Given the description of an element on the screen output the (x, y) to click on. 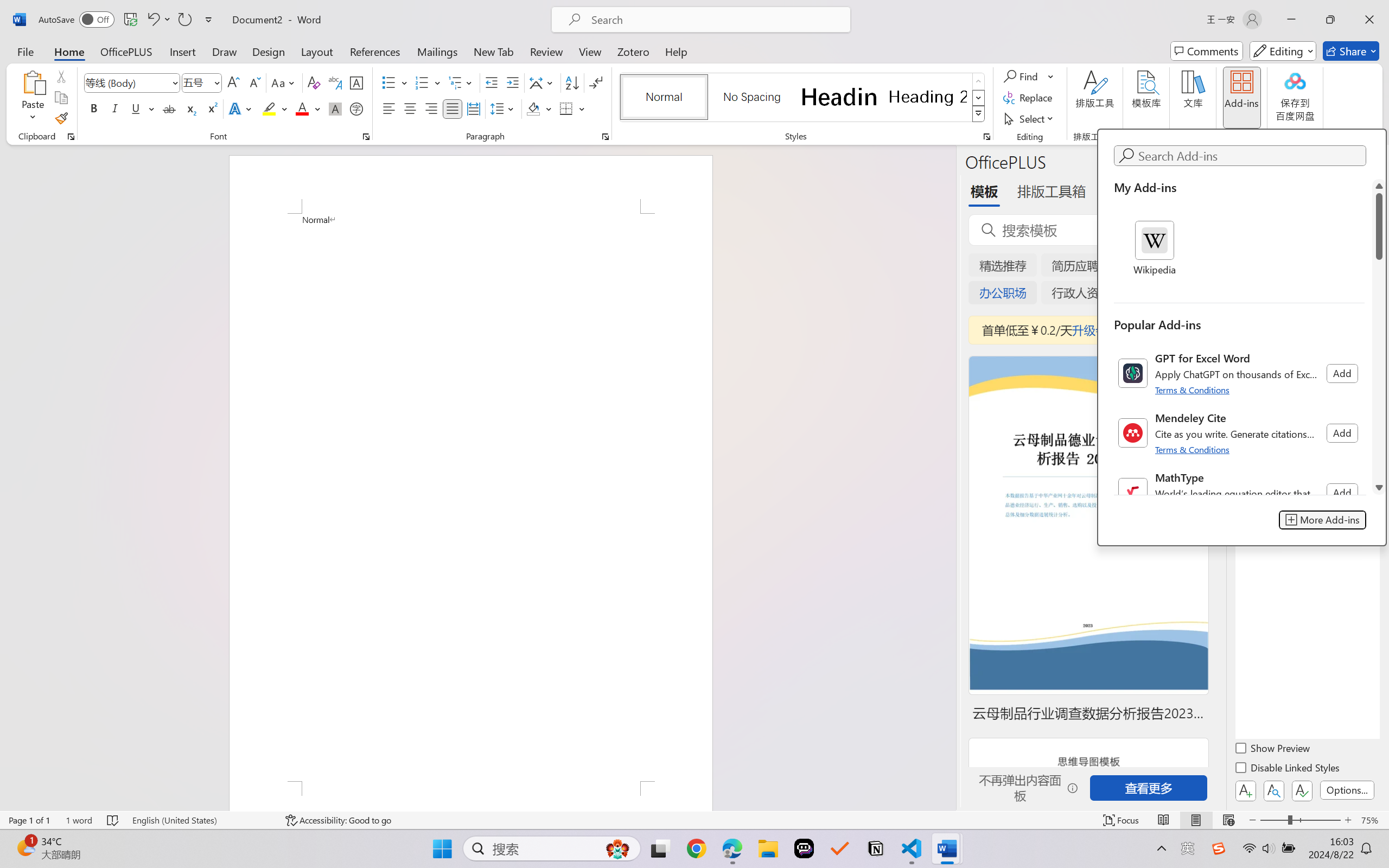
Page Number Page 1 of 1 (29, 819)
Class: Net UI Tool Window (1241, 336)
Font (132, 82)
Align Right (431, 108)
View (589, 51)
Line down (1379, 487)
AutomationID: BadgeAnchorLargeTicker (24, 847)
Line and Paragraph Spacing (503, 108)
Layout (316, 51)
Page down (1379, 369)
